Given the description of an element on the screen output the (x, y) to click on. 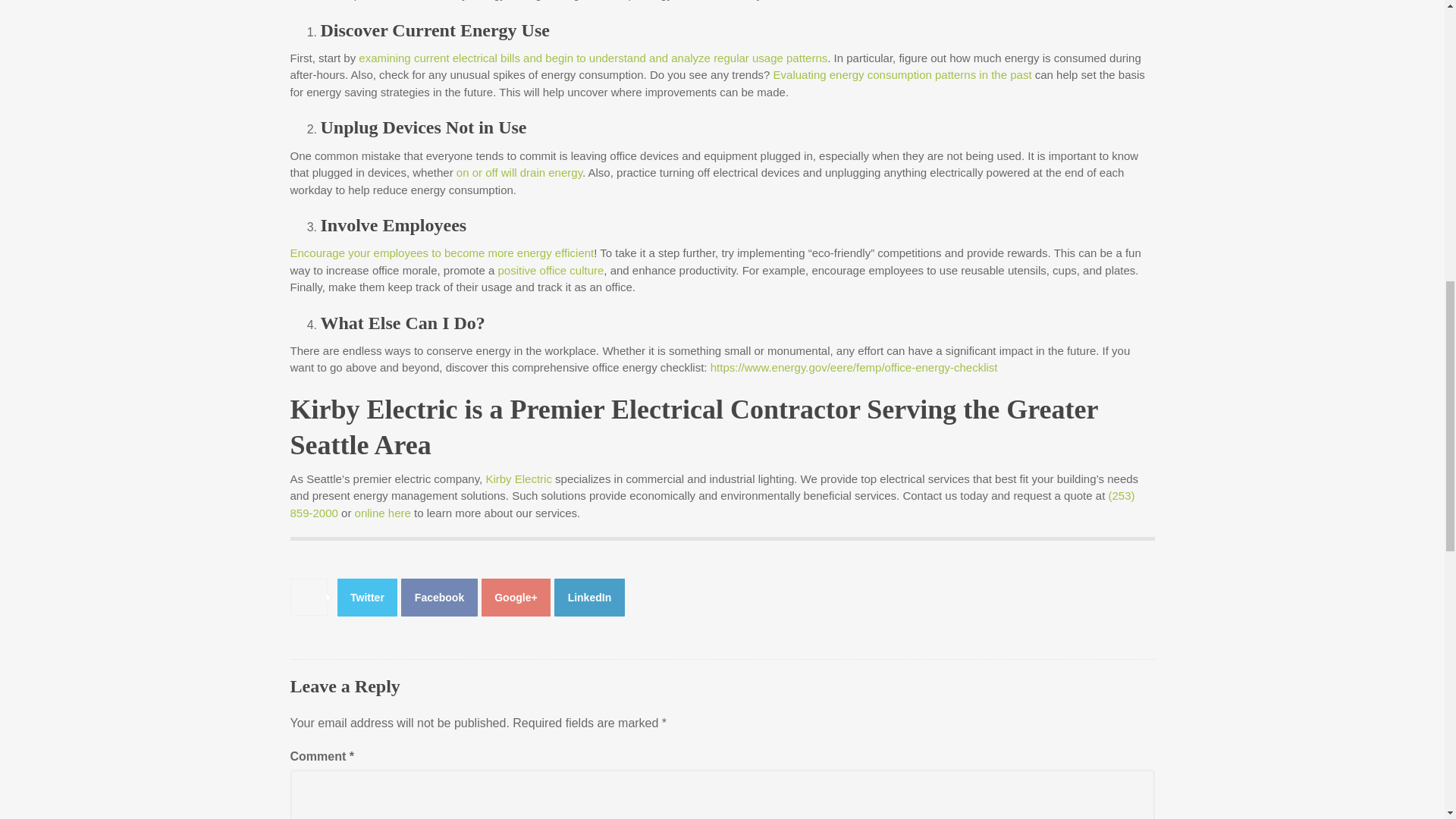
LinkedIn (589, 597)
Energy Saving Strategies for the Workplace (515, 597)
Energy Saving Strategies for the Workplace (366, 597)
Evaluating energy consumption patterns in the past (902, 74)
Twitter (366, 597)
Encourage your employees to become more energy efficient (441, 252)
Kirby Electric (517, 478)
on or off will drain energy (519, 172)
Energy Saving Strategies for the Workplace (589, 597)
Energy Saving Strategies for the Workplace (439, 597)
Facebook (439, 597)
online here (382, 512)
positive office culture (550, 269)
